Given the description of an element on the screen output the (x, y) to click on. 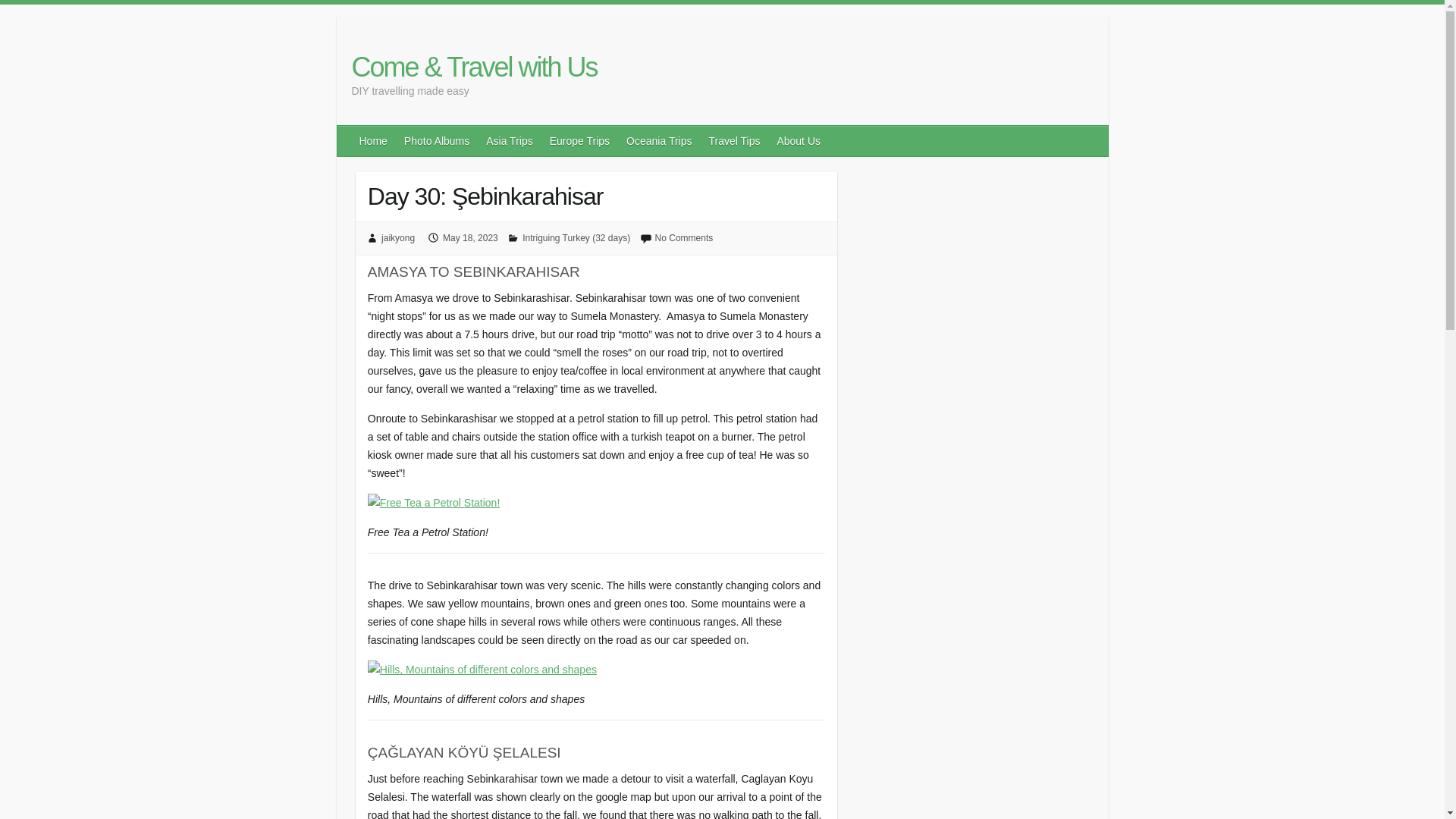
Asia Trips (510, 141)
Hills, Mountains of different colors and shapes (482, 669)
Photo Albums (437, 141)
Home (374, 141)
Free Tea a Petrol Station! (434, 502)
